Given the description of an element on the screen output the (x, y) to click on. 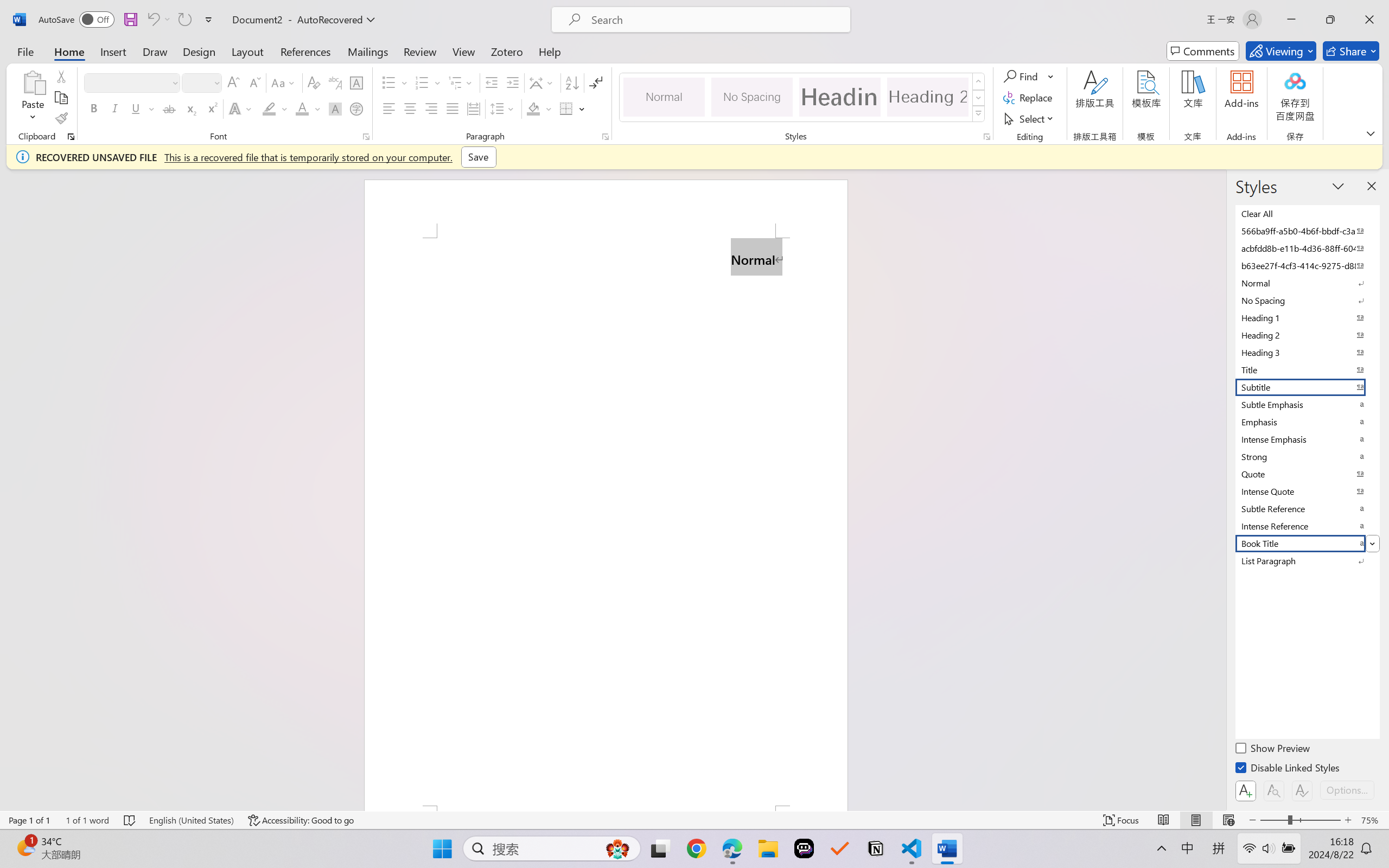
Bold (94, 108)
Text Effects and Typography (241, 108)
Distributed (473, 108)
Intense Emphasis (1306, 438)
Text Highlight Color Yellow (269, 108)
No Spacing (1306, 300)
Italic (115, 108)
Align Left (388, 108)
